Given the description of an element on the screen output the (x, y) to click on. 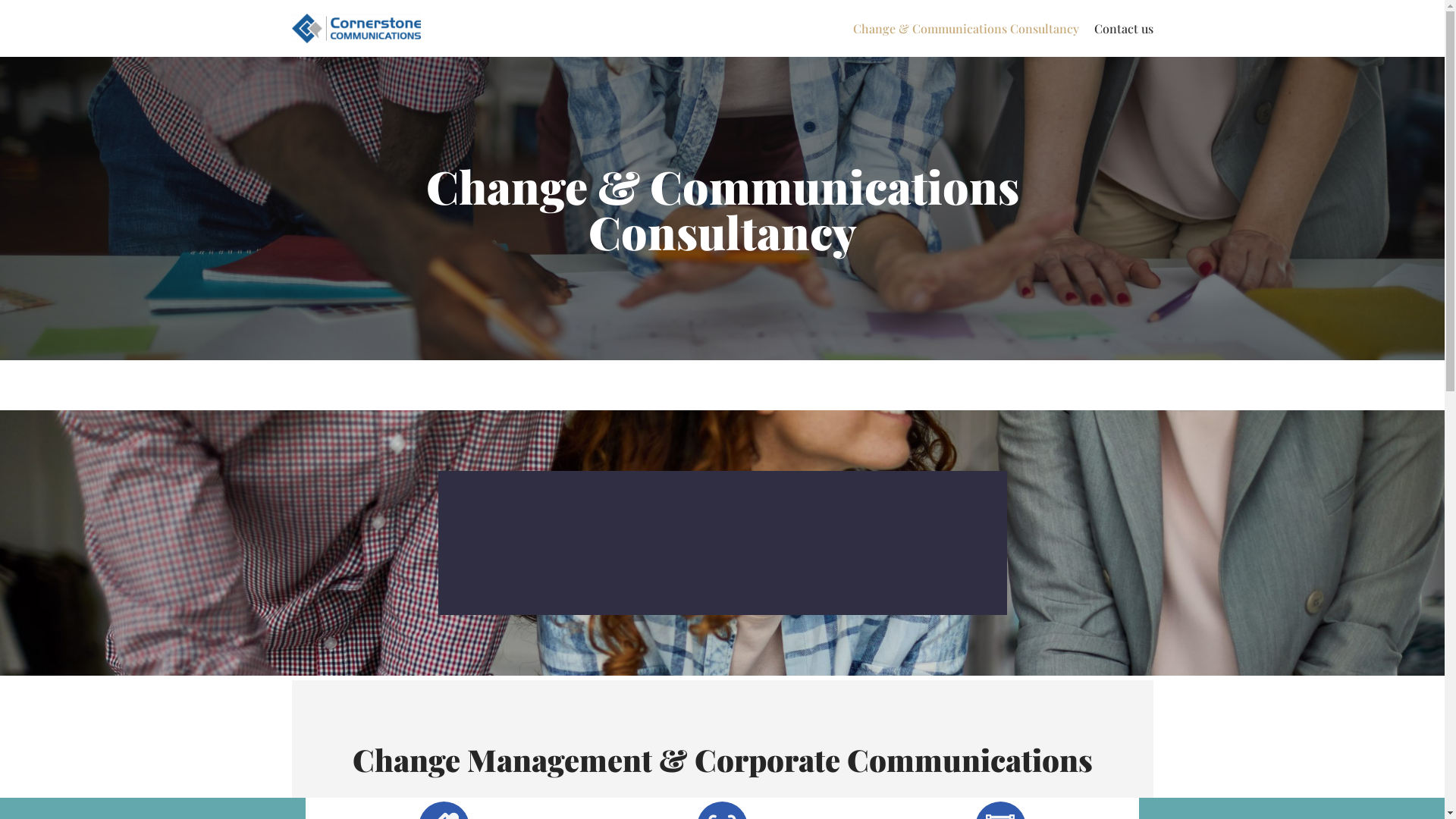
Cornerstone Communications Element type: hover (355, 28)
Skip to content Element type: text (11, 31)
Change & Communications Consultancy Element type: text (965, 28)
Contact us Element type: text (1122, 28)
